Given the description of an element on the screen output the (x, y) to click on. 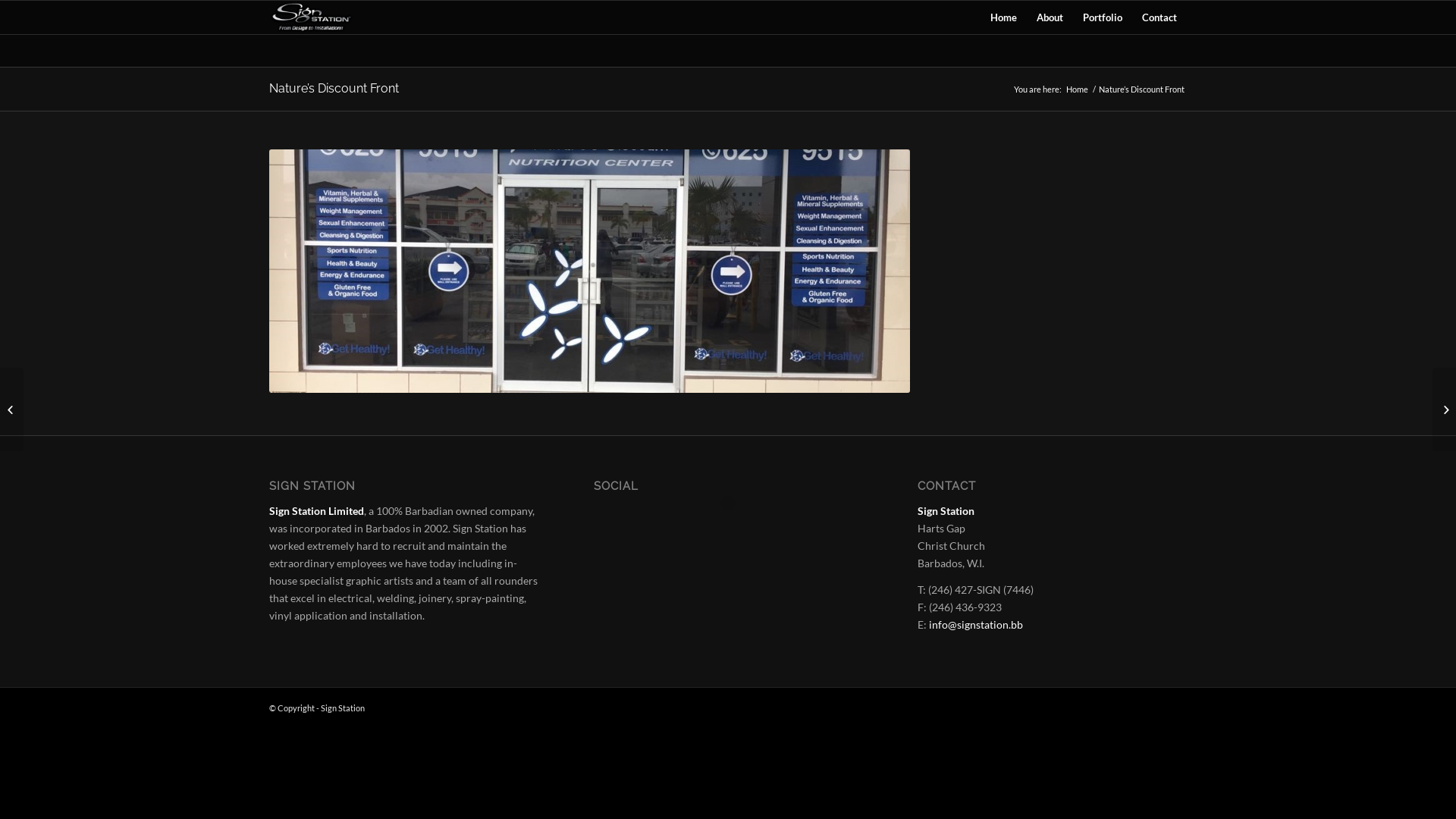
Portfolio Element type: text (1102, 17)
About Element type: text (1049, 17)
Home Element type: text (1003, 17)
Contact Element type: text (1159, 17)
Home Element type: text (1076, 88)
info@signstation.bb Element type: text (975, 624)
